Given the description of an element on the screen output the (x, y) to click on. 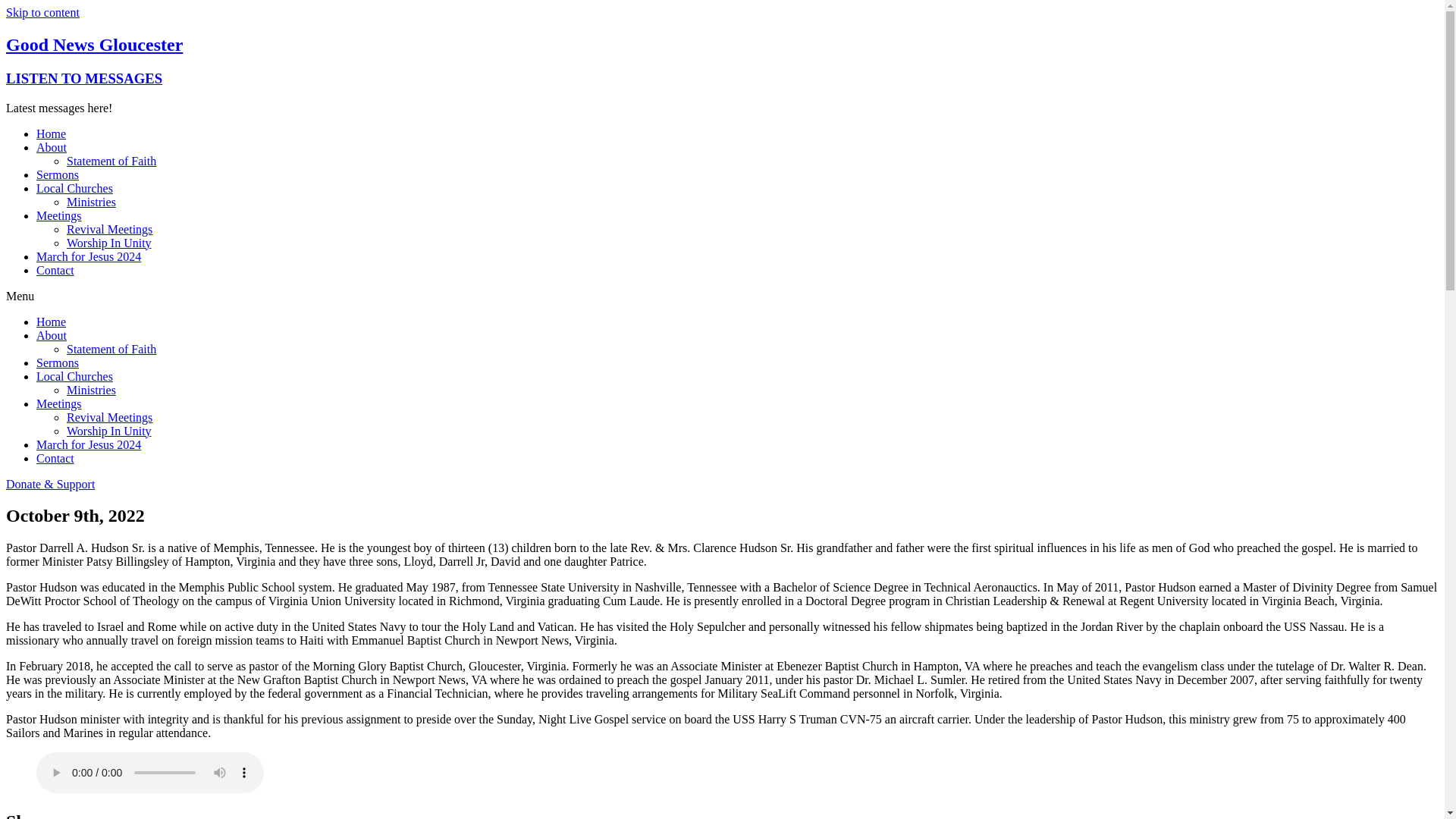
Meetings (58, 403)
Skip to content (42, 11)
Home (50, 133)
Local Churches (74, 376)
March for Jesus 2024 (88, 444)
Ministries (91, 390)
LISTEN TO MESSAGES (83, 78)
Revival Meetings (109, 417)
Home (50, 321)
Worship In Unity (108, 431)
